Given the description of an element on the screen output the (x, y) to click on. 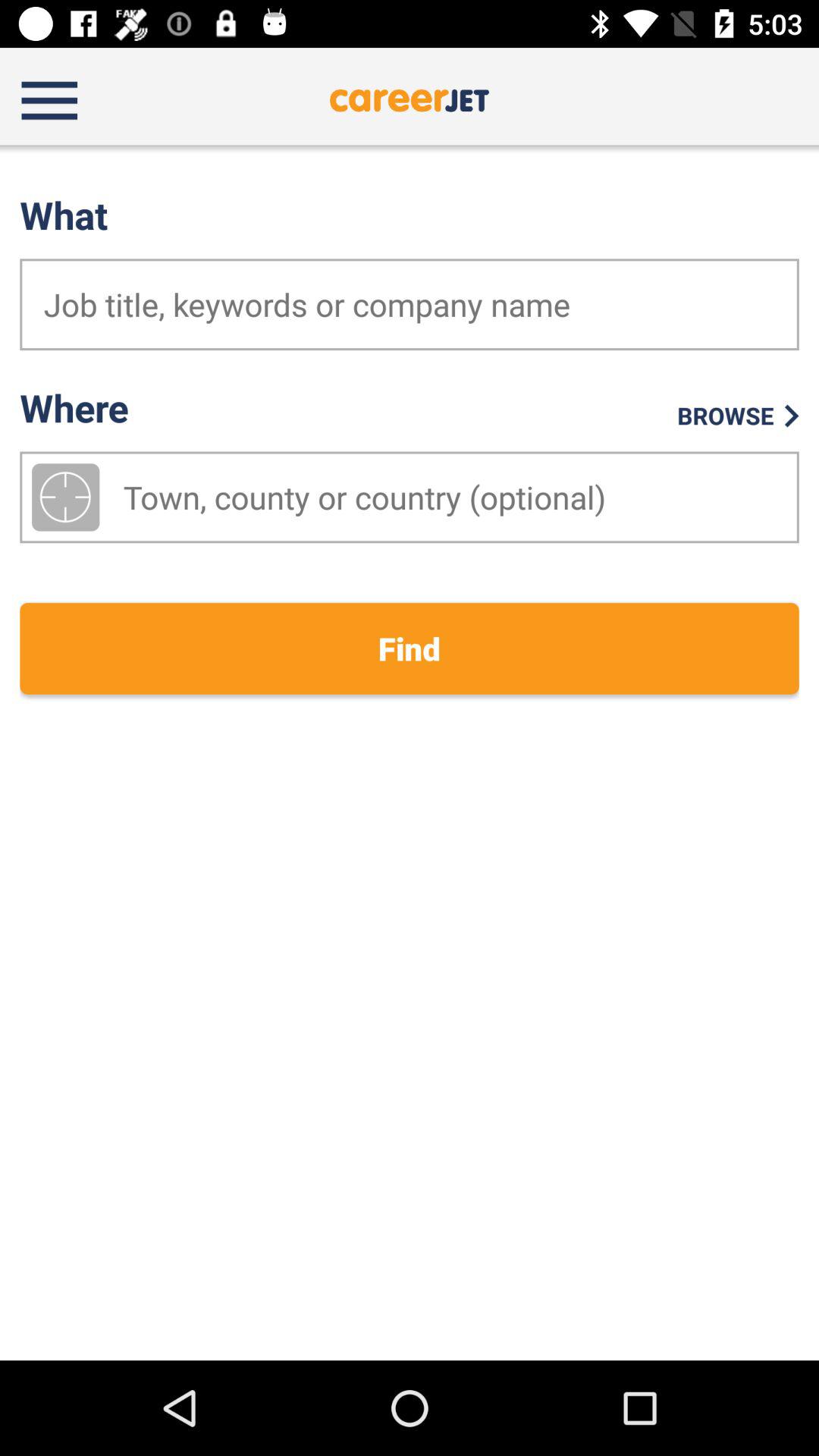
insert words (409, 304)
